Given the description of an element on the screen output the (x, y) to click on. 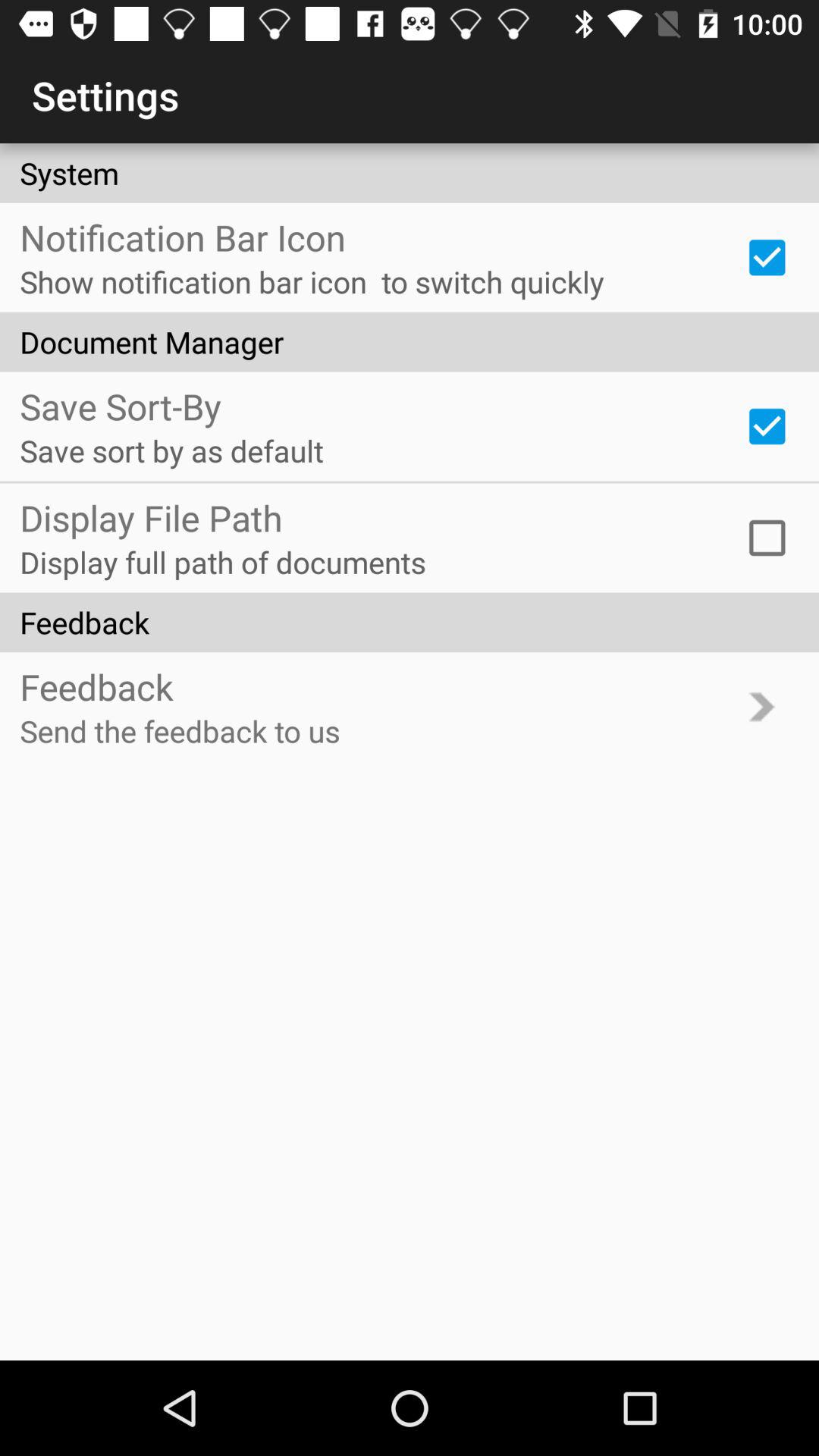
toggle notification bar (767, 257)
